Given the description of an element on the screen output the (x, y) to click on. 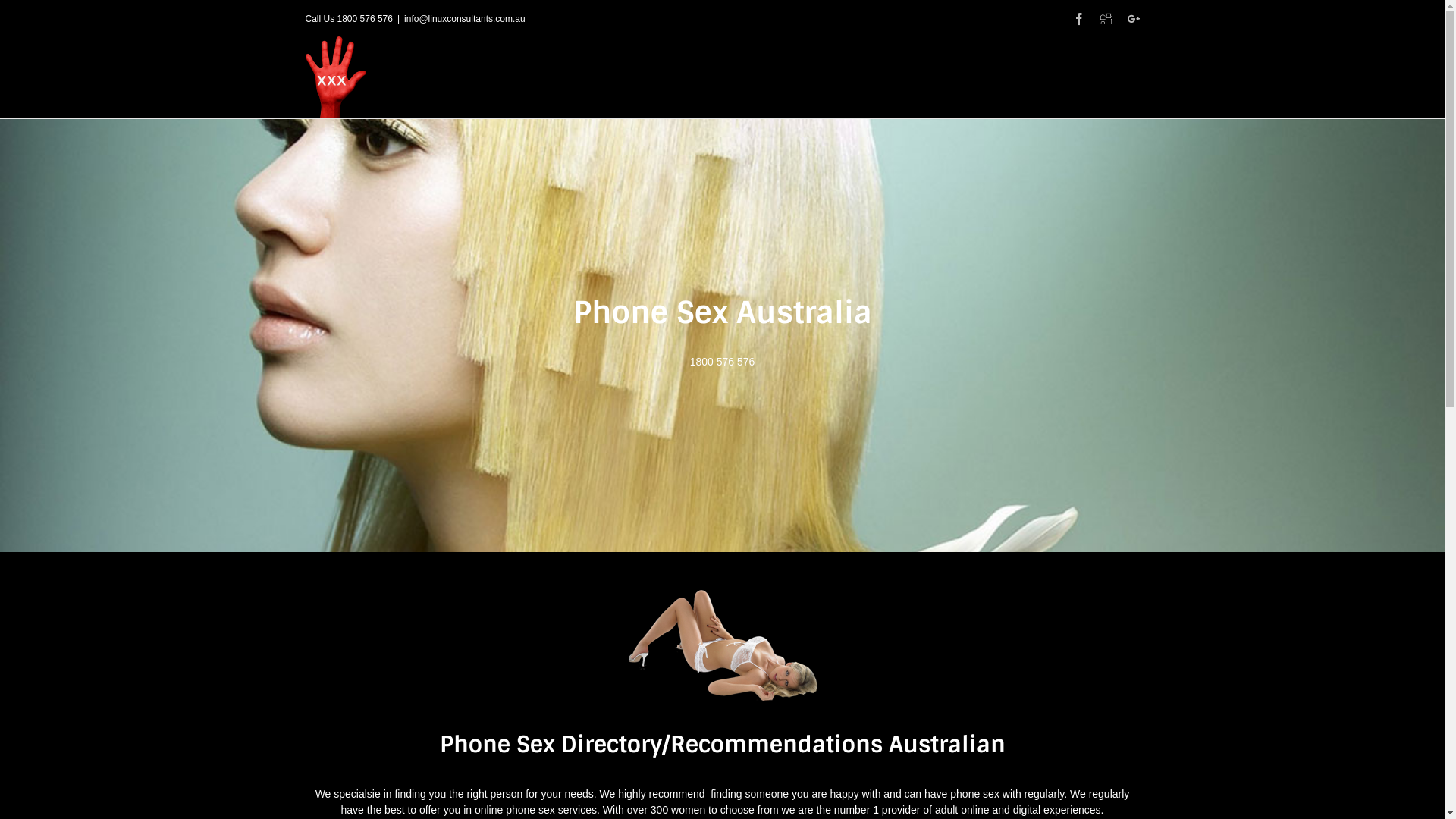
Facebook Element type: text (1078, 18)
Google+ Element type: text (1132, 18)
Digg Element type: text (1105, 18)
info@linuxconsultants.com.au Element type: text (464, 18)
